Given the description of an element on the screen output the (x, y) to click on. 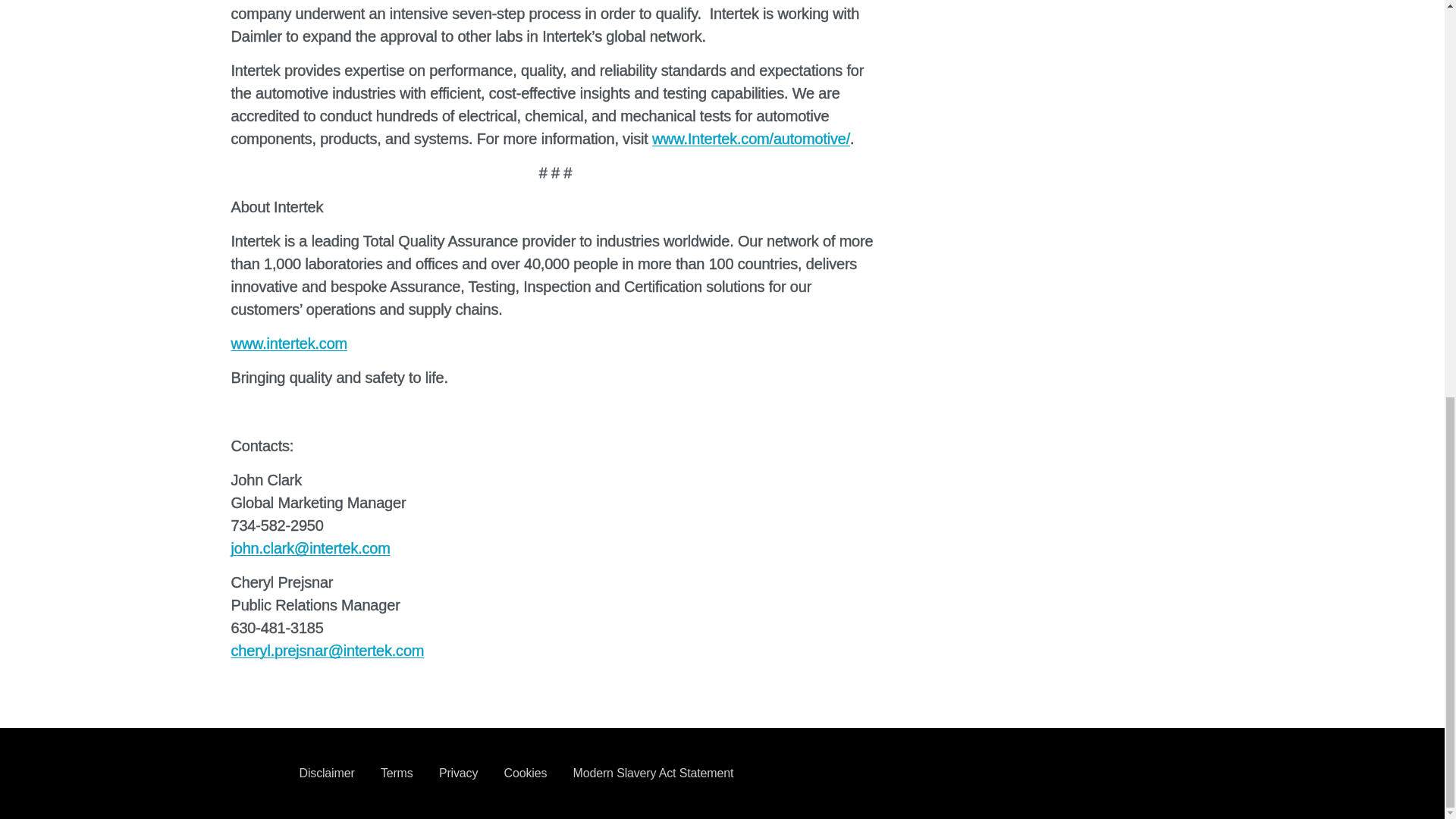
Intertek Intertek Brand Roundel Logo (253, 773)
